Given the description of an element on the screen output the (x, y) to click on. 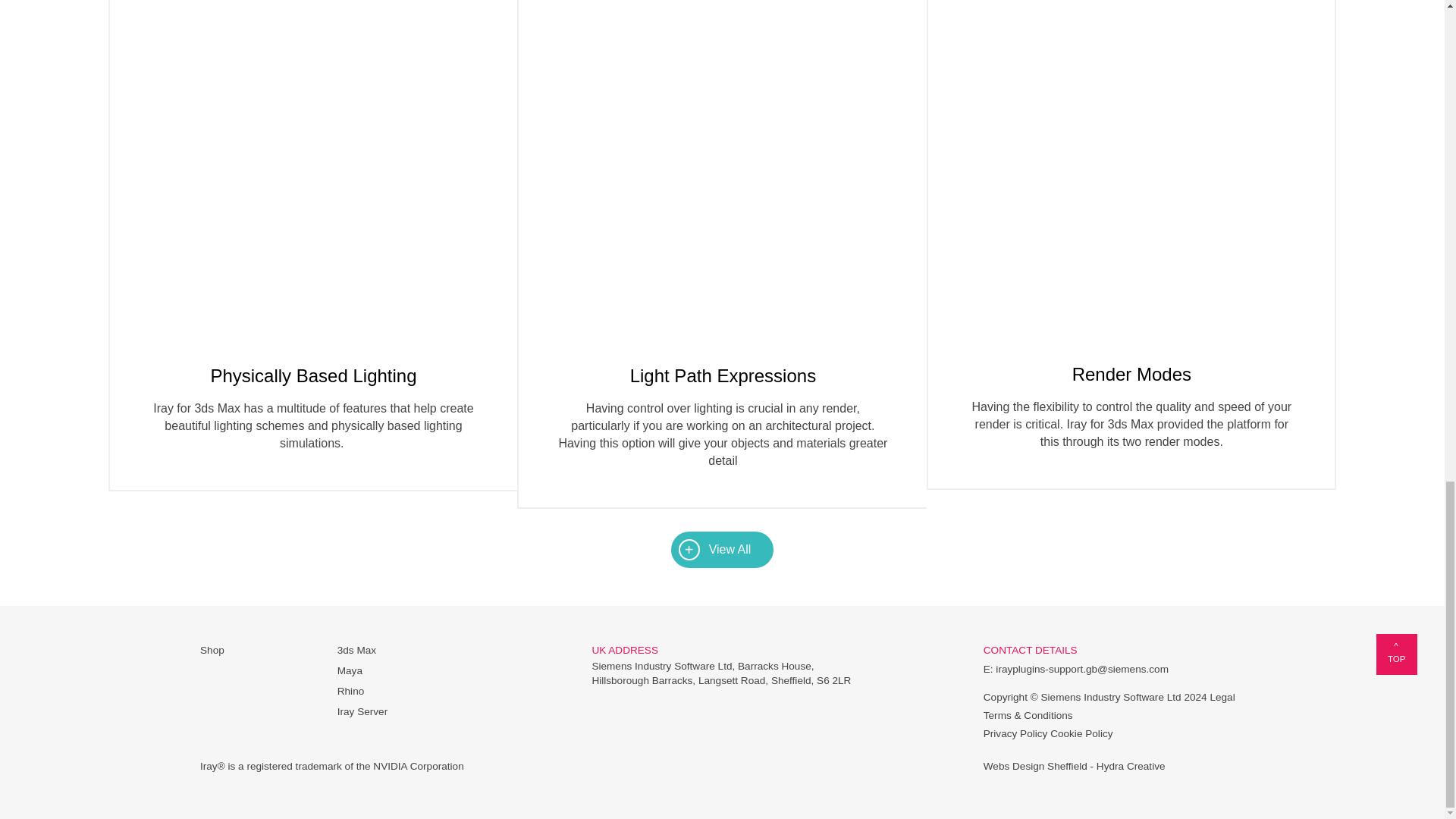
Privacy Policy (1016, 734)
TOP (1395, 653)
Webs Design Sheffield (1035, 766)
Open Gallery (722, 165)
Iray Server (362, 711)
View All (722, 549)
Maya (349, 670)
Rhino (351, 690)
Shop (212, 650)
Cookie Policy (1080, 734)
